Given the description of an element on the screen output the (x, y) to click on. 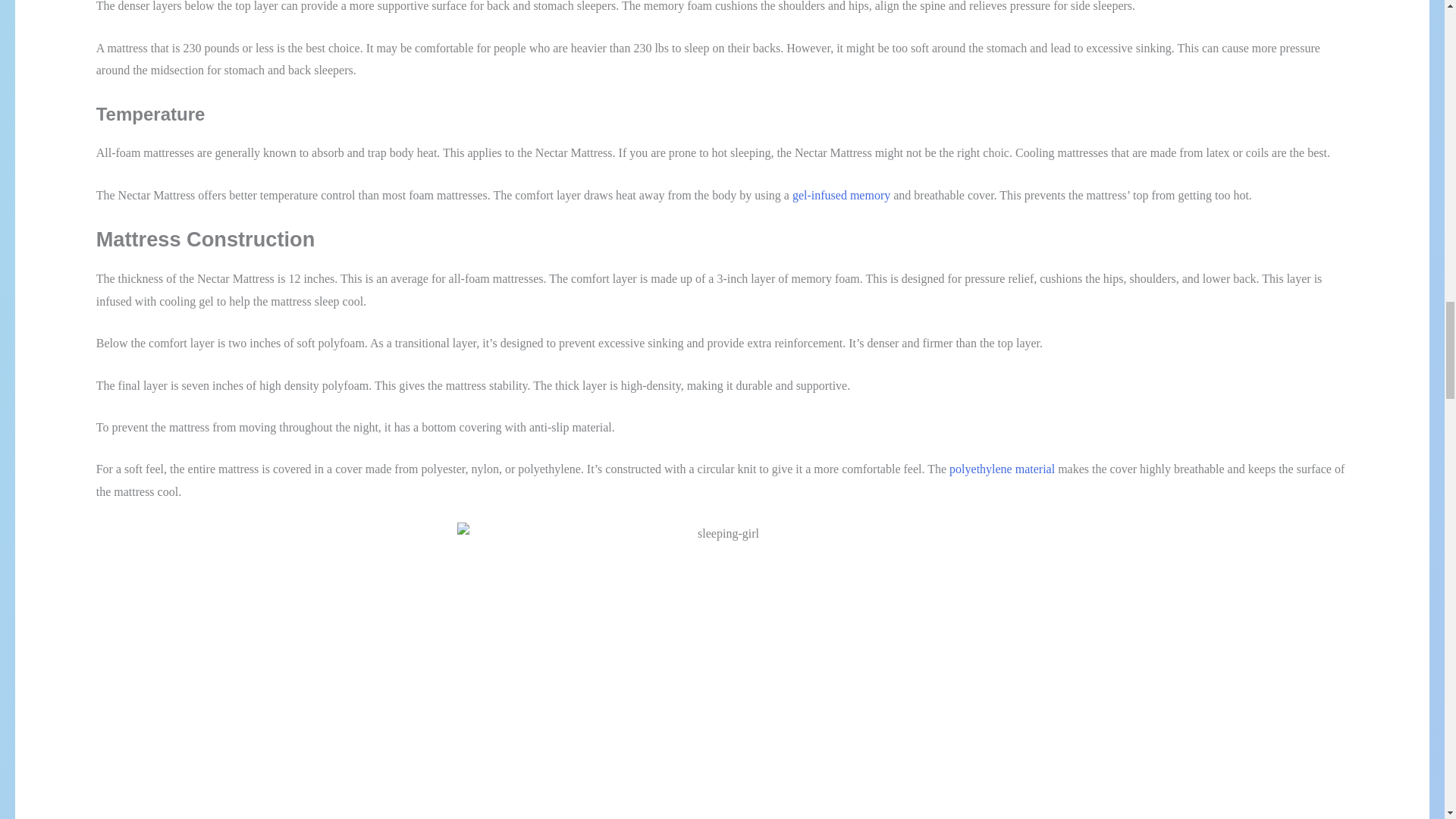
polyethylene material (1001, 468)
gel-infused memory (840, 195)
